Given the description of an element on the screen output the (x, y) to click on. 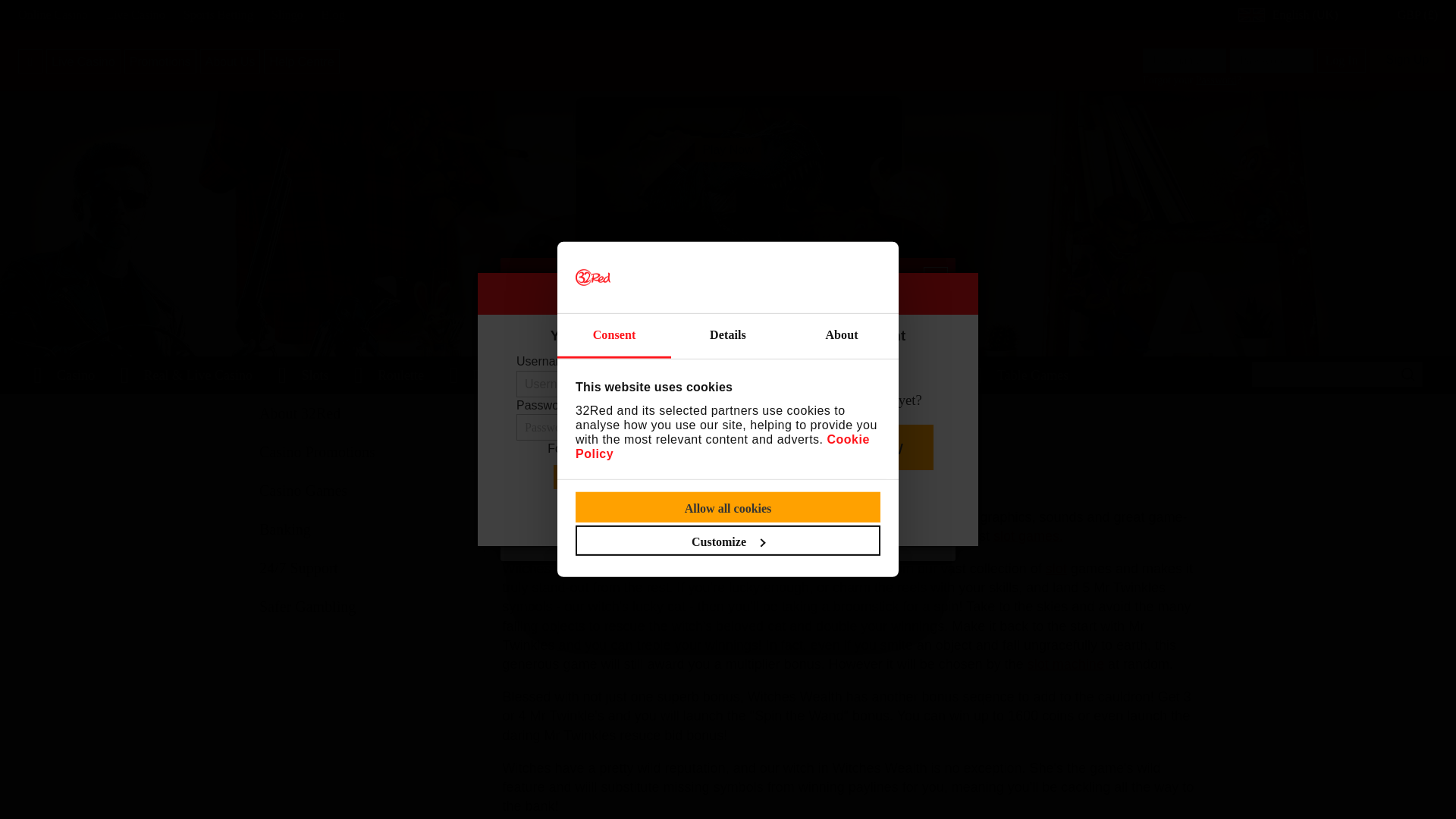
Details (727, 335)
Consent (614, 335)
About (841, 335)
Cookie Policy (722, 446)
